Given the description of an element on the screen output the (x, y) to click on. 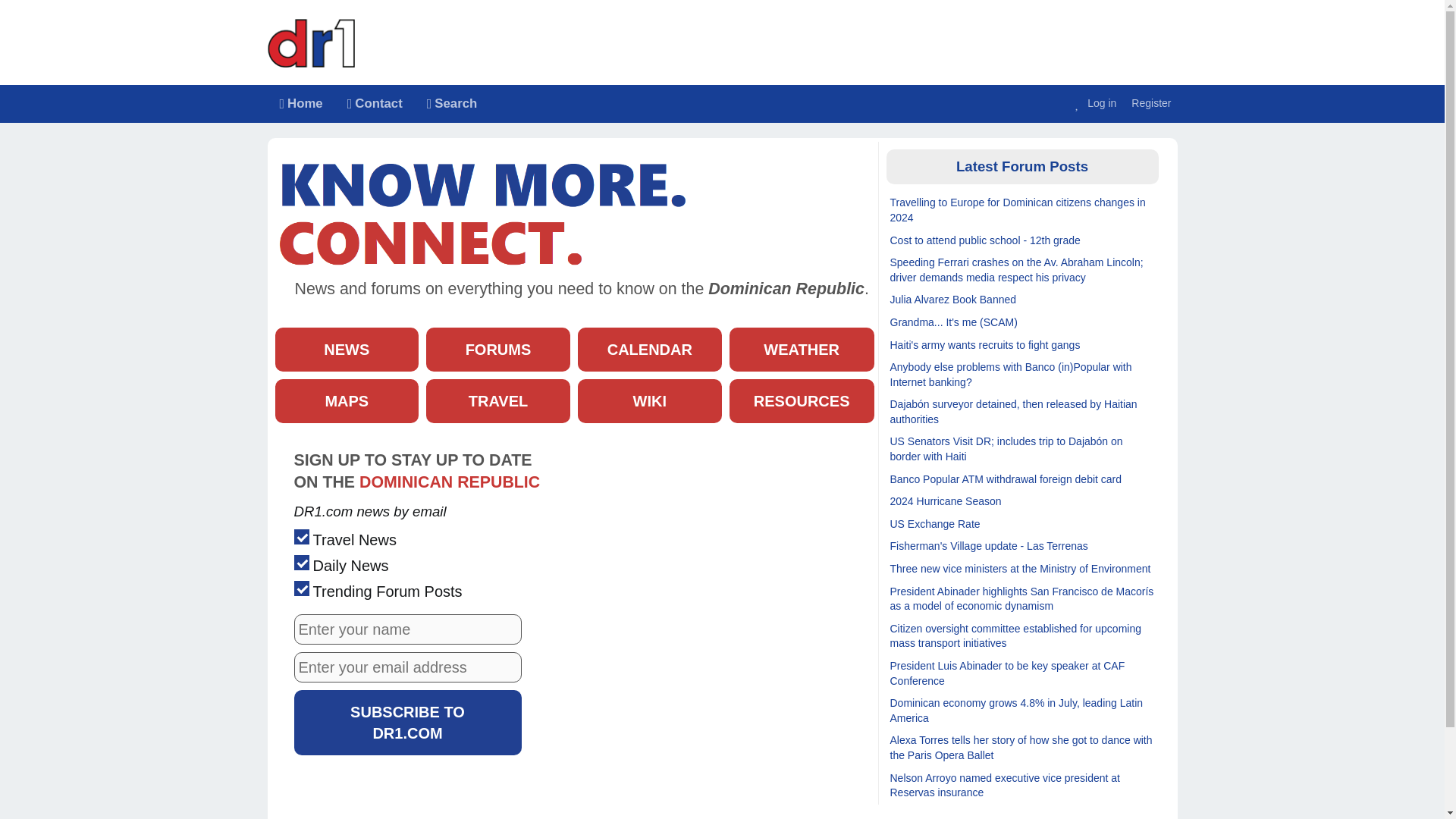
MAPS (347, 401)
Register (1149, 103)
Contact (374, 103)
Home (300, 103)
RESOURCES (802, 401)
WEATHER (802, 349)
NEWS (347, 349)
FORUMS (498, 349)
Search (377, 103)
